Given the description of an element on the screen output the (x, y) to click on. 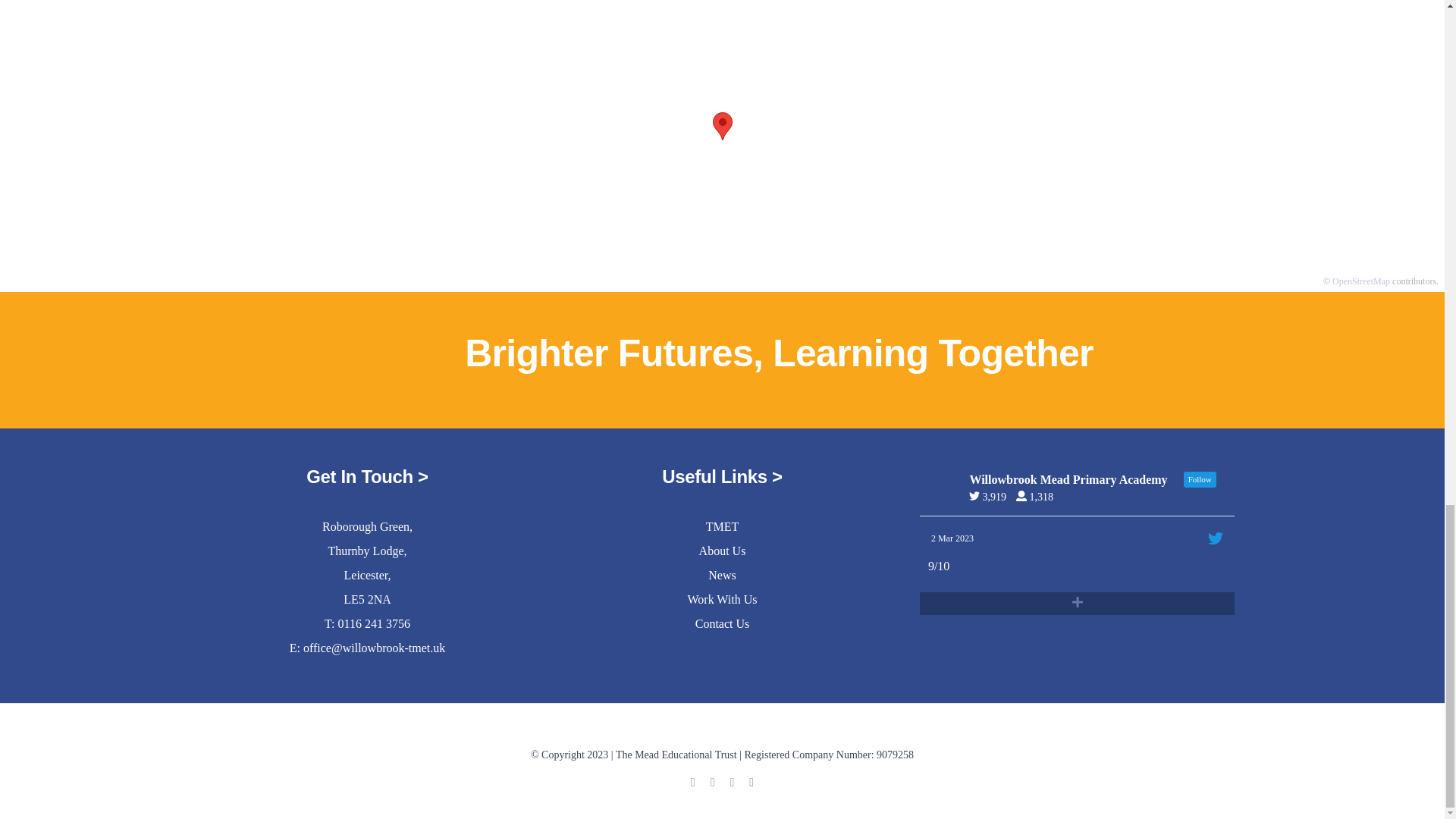
1,318 Followers (1038, 496)
3,919 Tweets (991, 496)
